Given the description of an element on the screen output the (x, y) to click on. 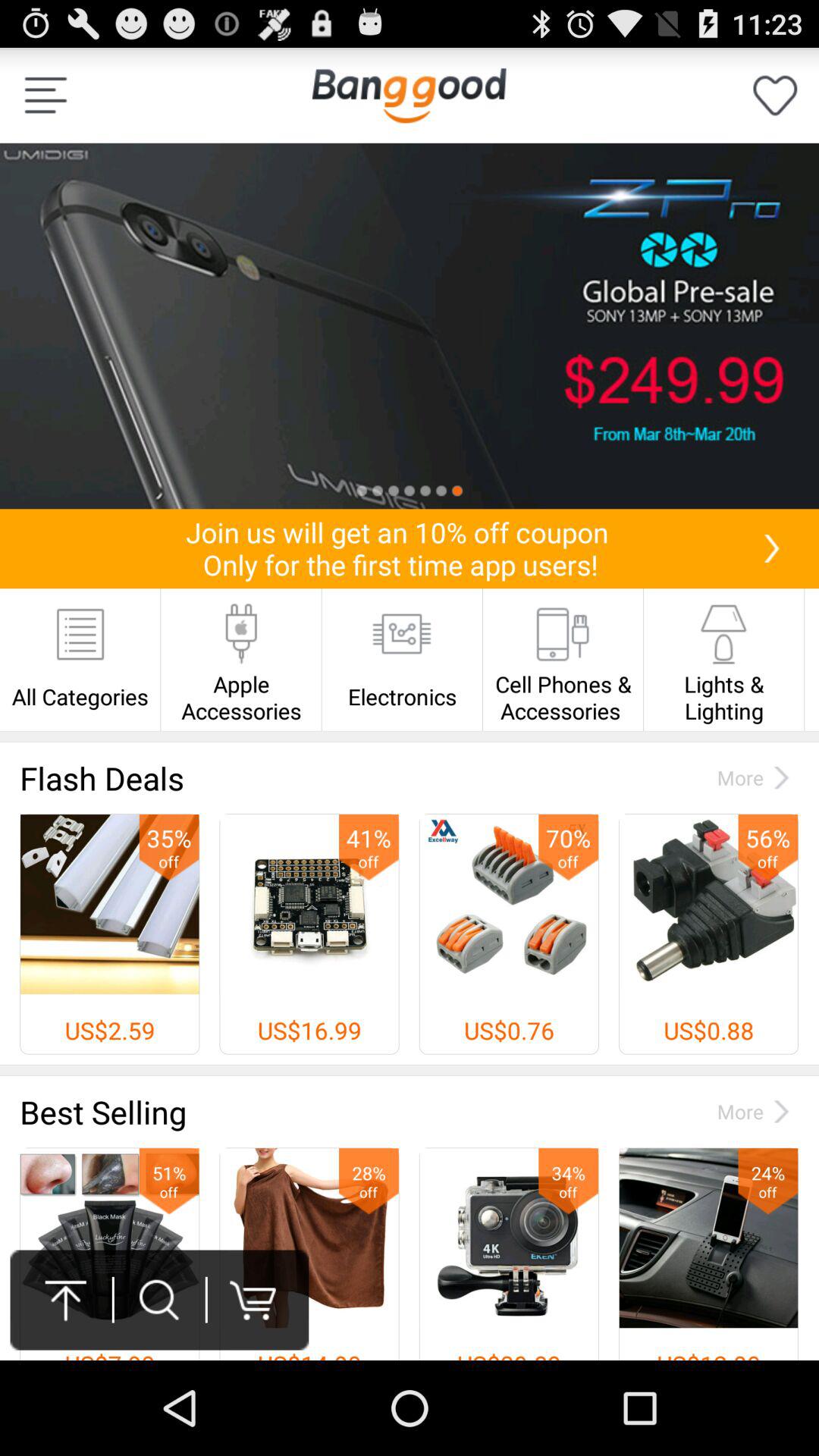
display menu (45, 95)
